Given the description of an element on the screen output the (x, y) to click on. 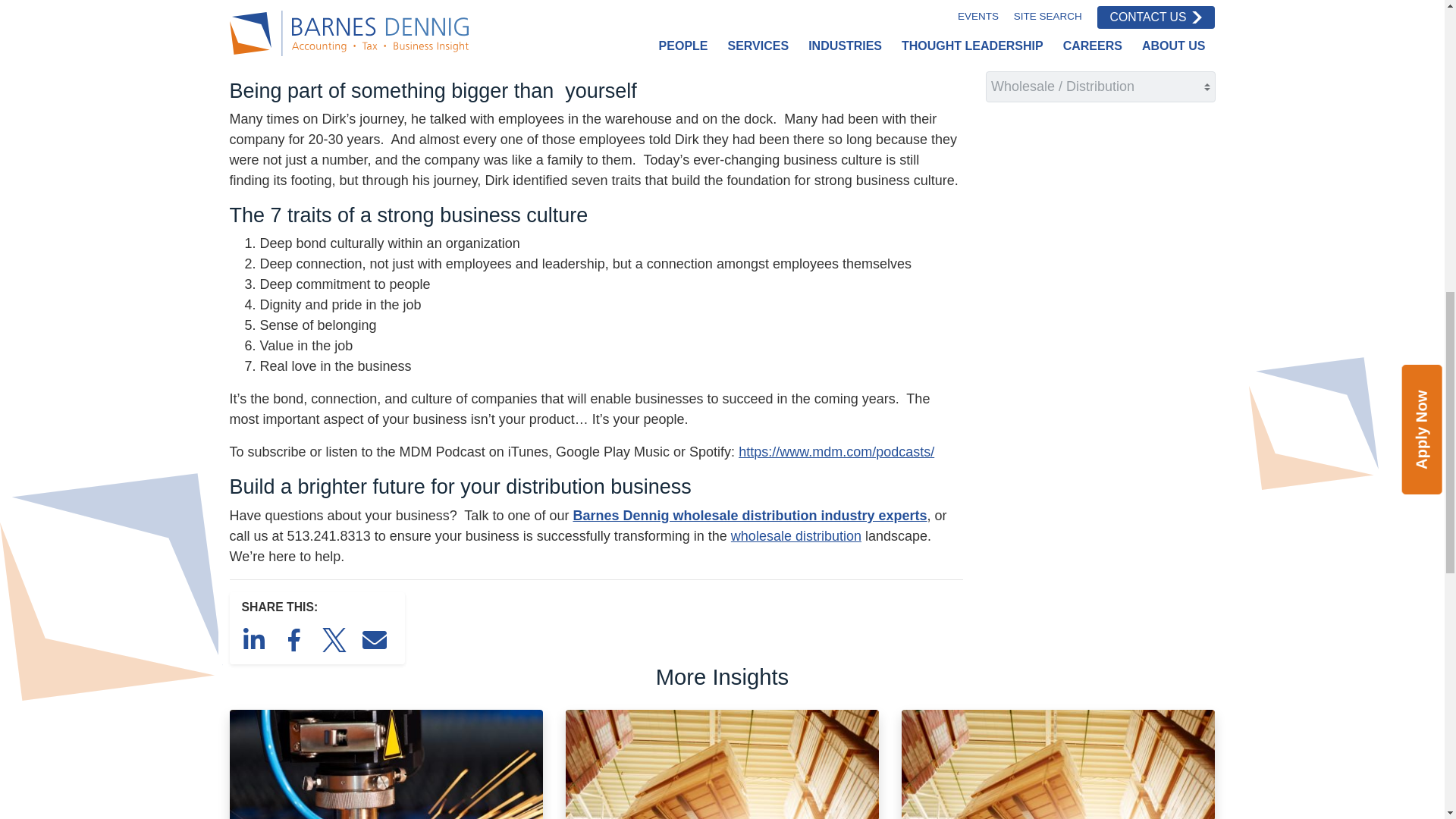
Share on Facebook (297, 639)
LinkedIn (252, 639)
Facebook (293, 639)
Share on LinkedIn (255, 639)
Share on Twitter (336, 639)
